Given the description of an element on the screen output the (x, y) to click on. 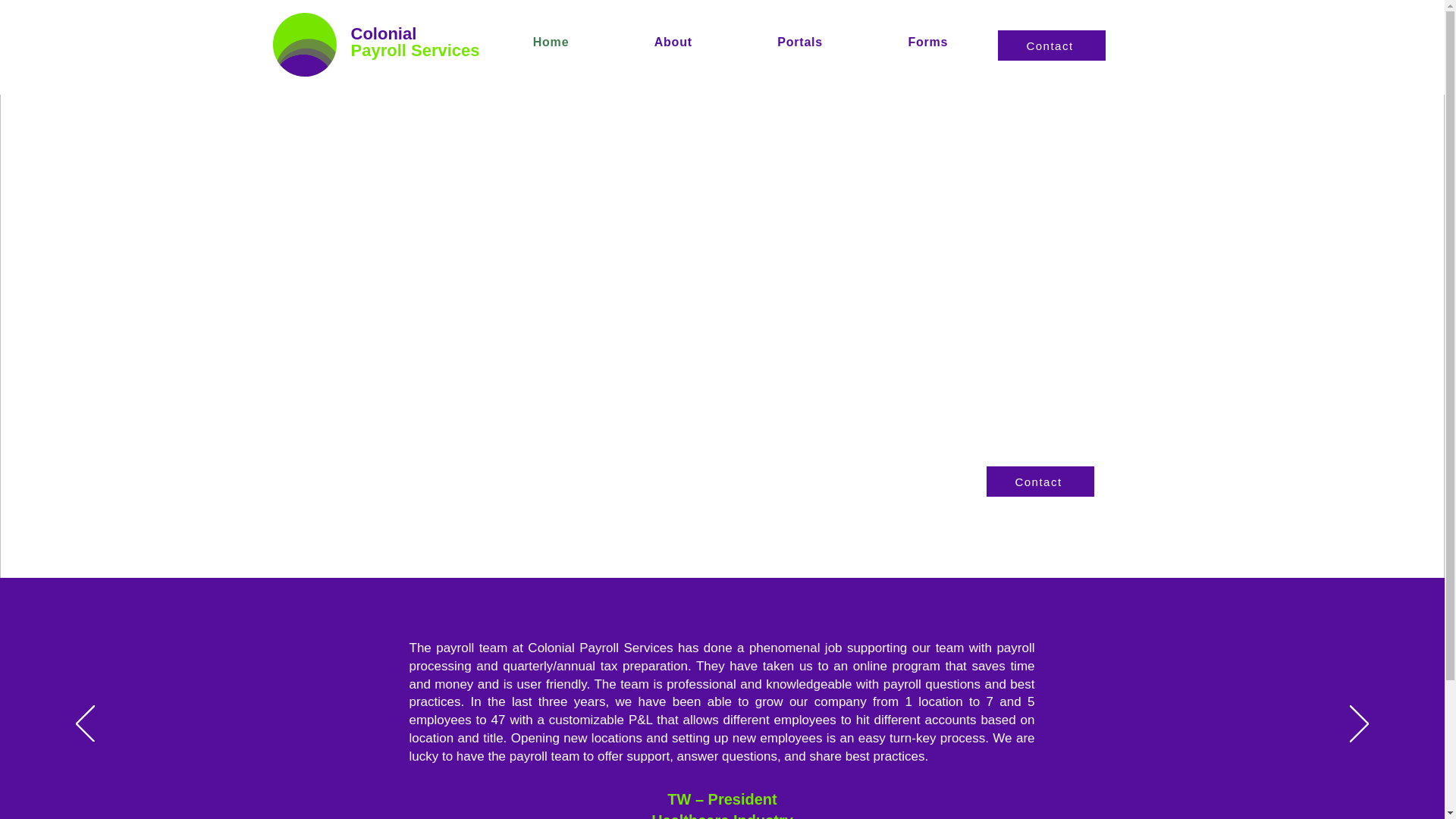
Contact (1051, 45)
Home (550, 41)
Contact (1039, 481)
Forms (927, 41)
Portals (799, 41)
About (673, 41)
